Given the description of an element on the screen output the (x, y) to click on. 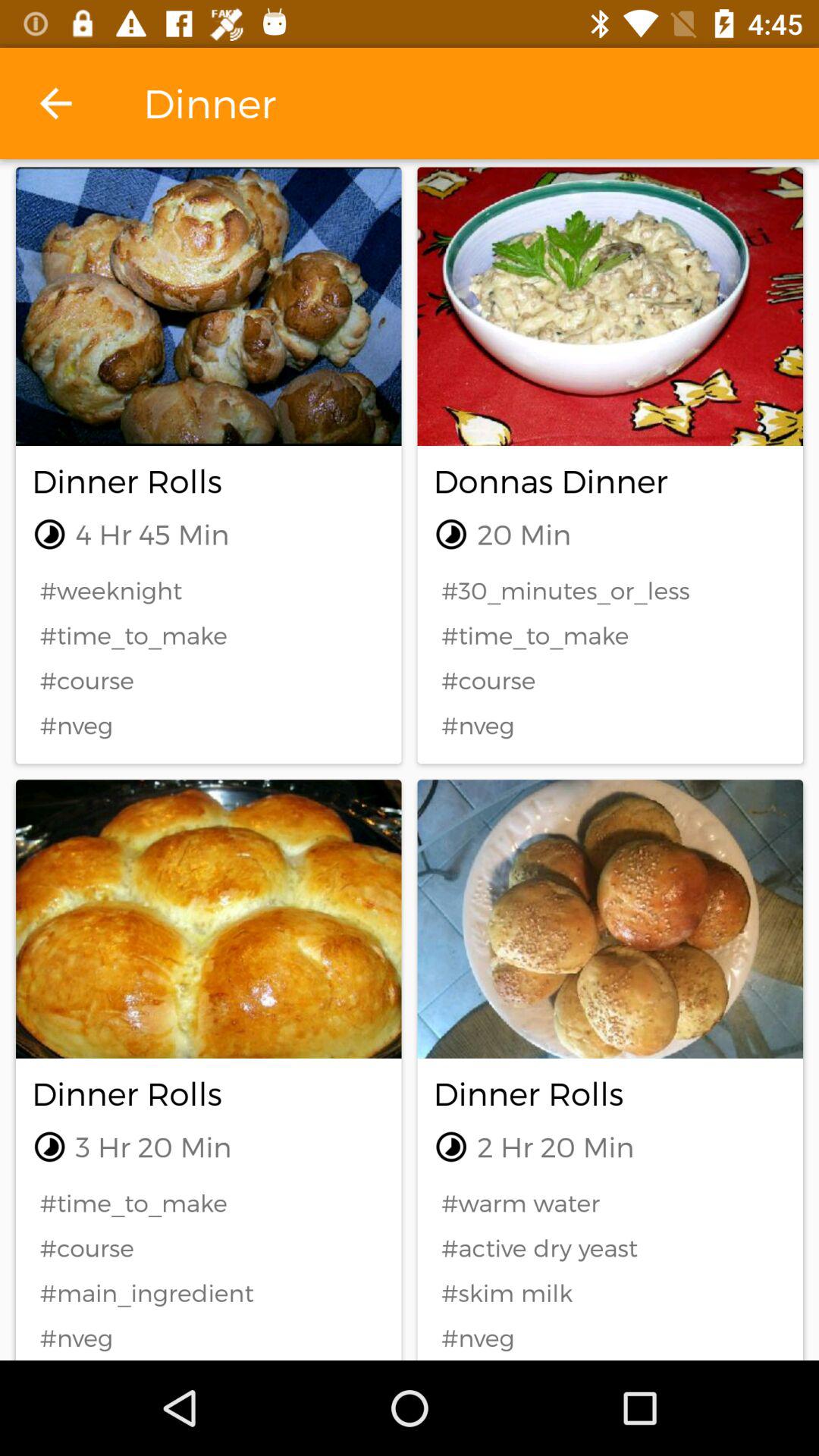
launch the icon below the 4 hr 45 (208, 590)
